Given the description of an element on the screen output the (x, y) to click on. 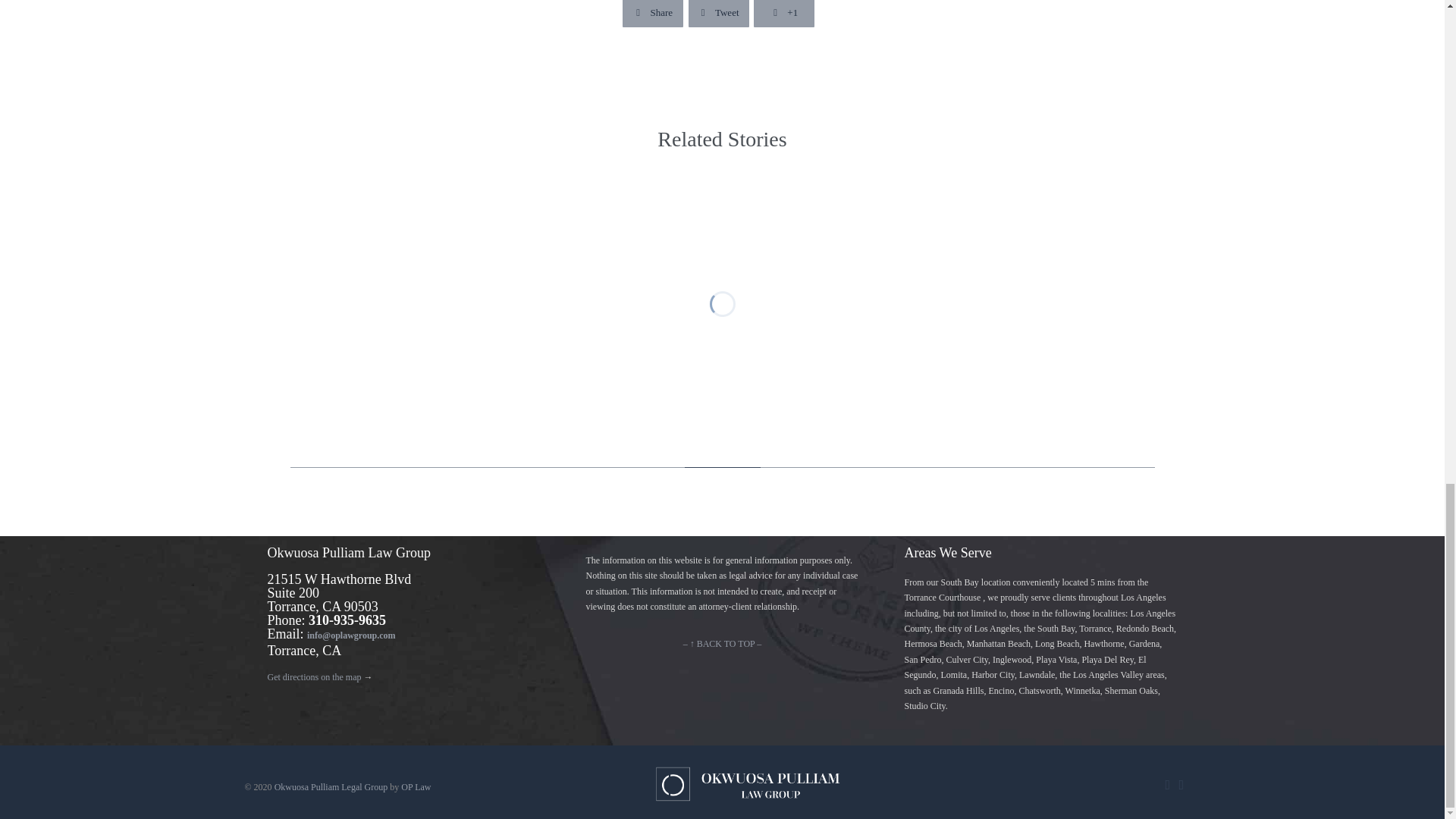
Share on Google Plus (783, 13)
Share on Facebook (652, 13)
Share on Twitter (718, 13)
